Given the description of an element on the screen output the (x, y) to click on. 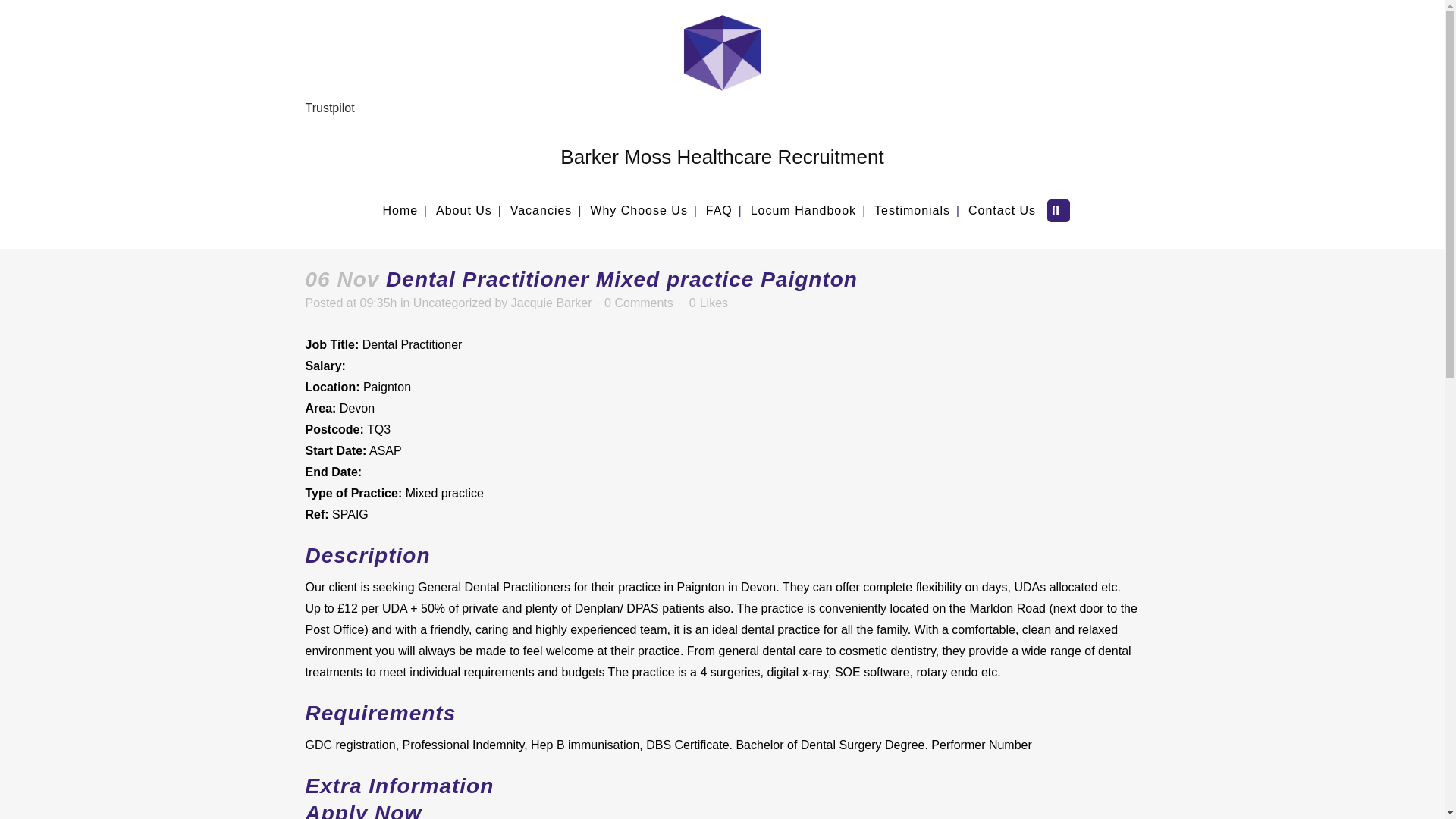
Trustpilot (328, 107)
0 Likes (708, 303)
Locum Handbook (802, 210)
Jacquie Barker (551, 302)
Testimonials (912, 210)
0 Comments (638, 302)
About Us (463, 210)
Why Choose Us (638, 210)
Vacancies (540, 210)
Like this (708, 303)
Contact Us (1001, 210)
